Given the description of an element on the screen output the (x, y) to click on. 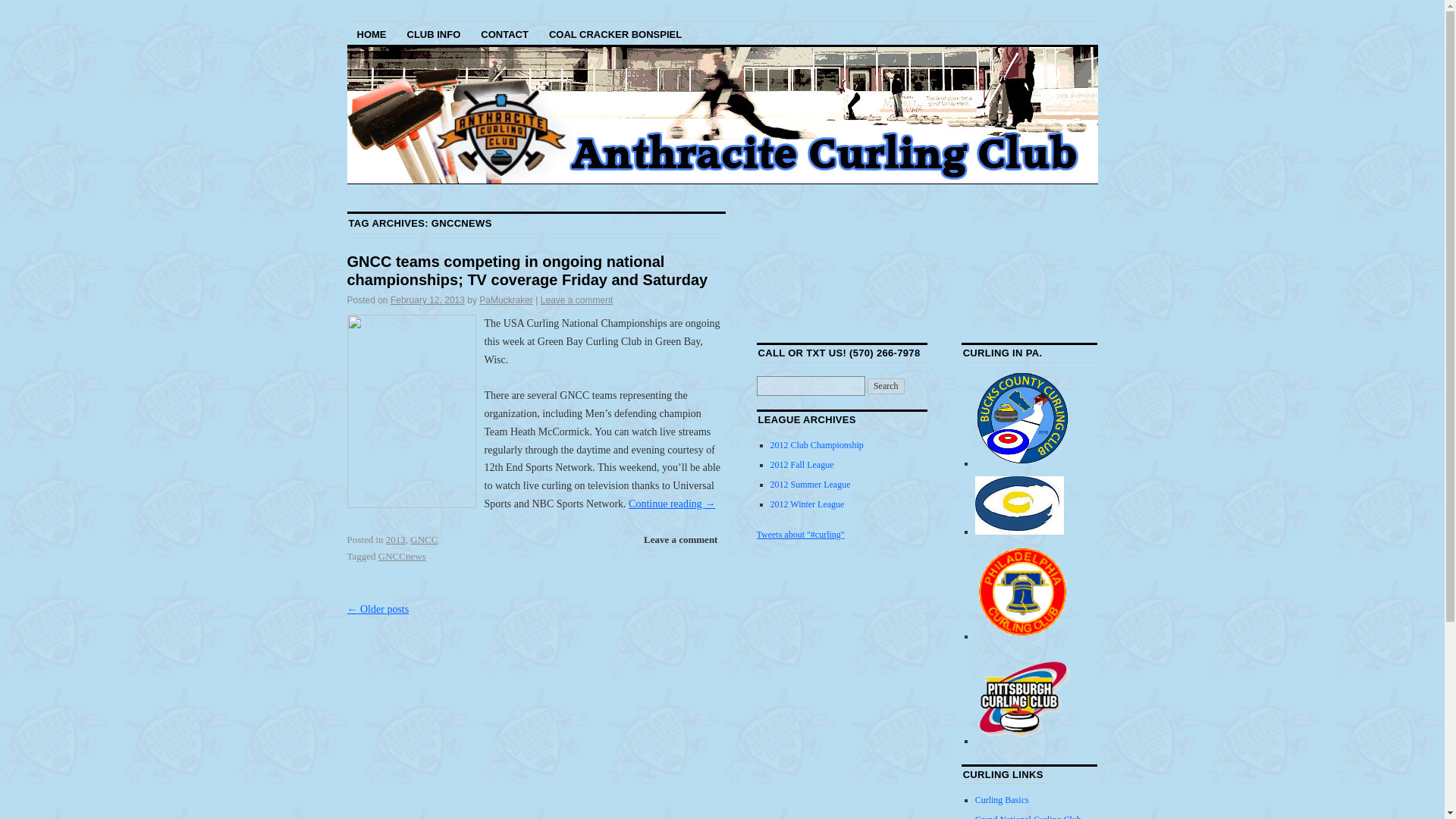
COAL CRACKER BONSPIEL (614, 33)
2012 Club Championship (816, 444)
HOME (371, 33)
February 12, 2013 (427, 299)
2012 Summer League (810, 484)
Grand National Curling Club (1028, 816)
Search (885, 385)
Leave a comment (576, 299)
Curling Basics (1002, 799)
GNCC (424, 539)
